Given the description of an element on the screen output the (x, y) to click on. 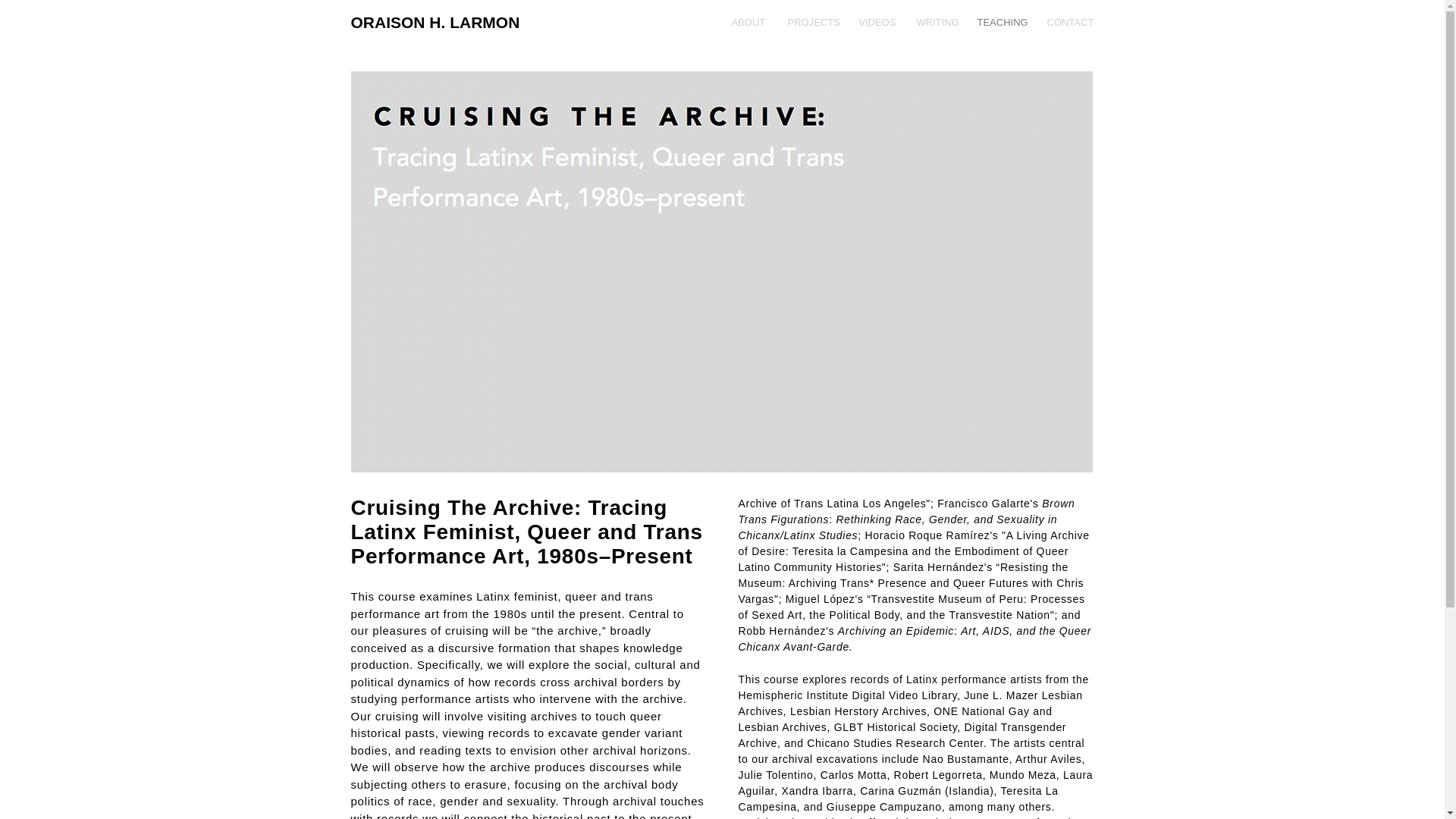
VIDEOS (876, 22)
TEACHING (1000, 22)
CONTACT (1069, 22)
ABOUT (748, 22)
WRITING (935, 22)
PROJECTS (811, 22)
